Given the description of an element on the screen output the (x, y) to click on. 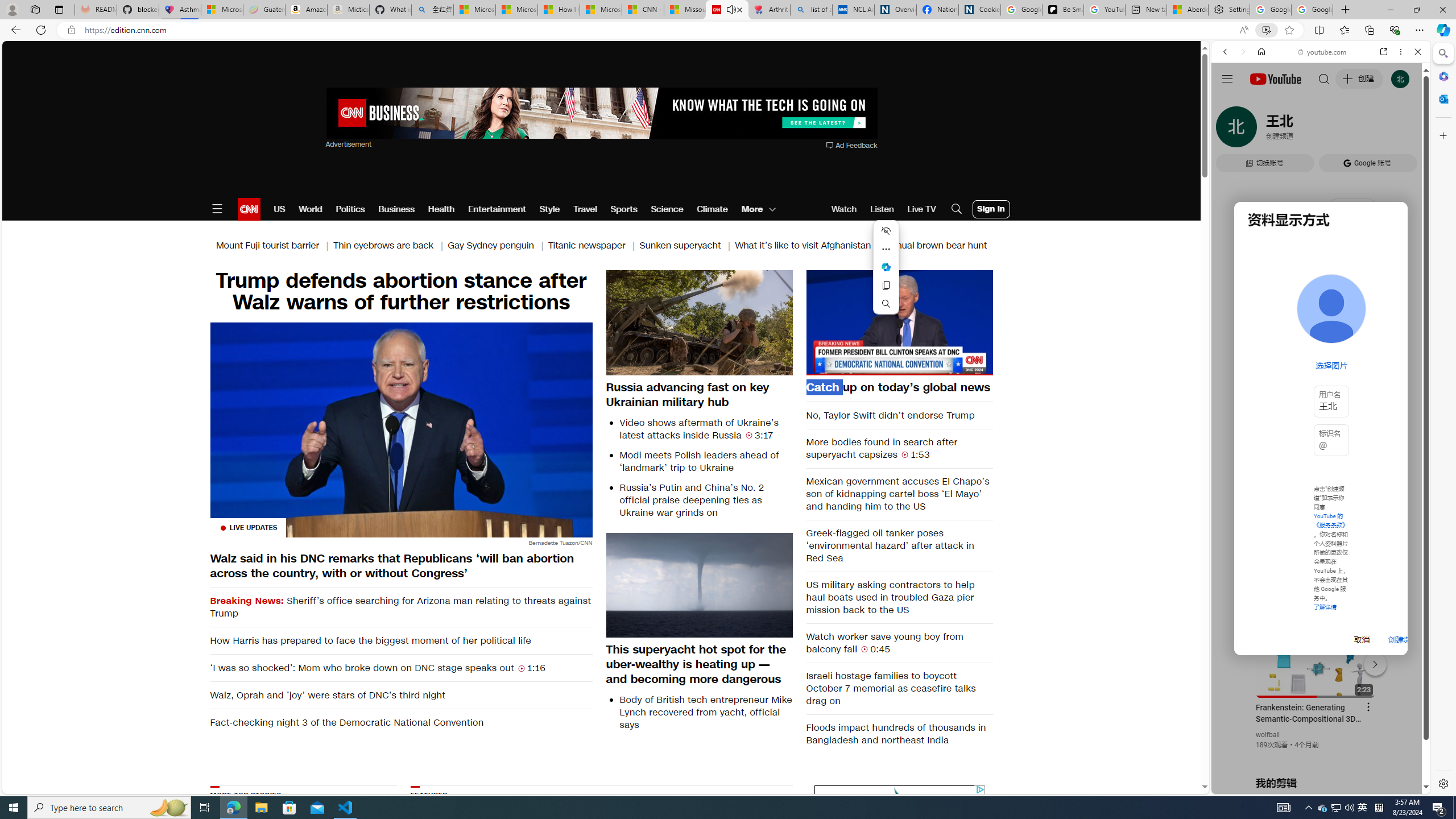
Captions Unavailable (927, 365)
